Given the description of an element on the screen output the (x, y) to click on. 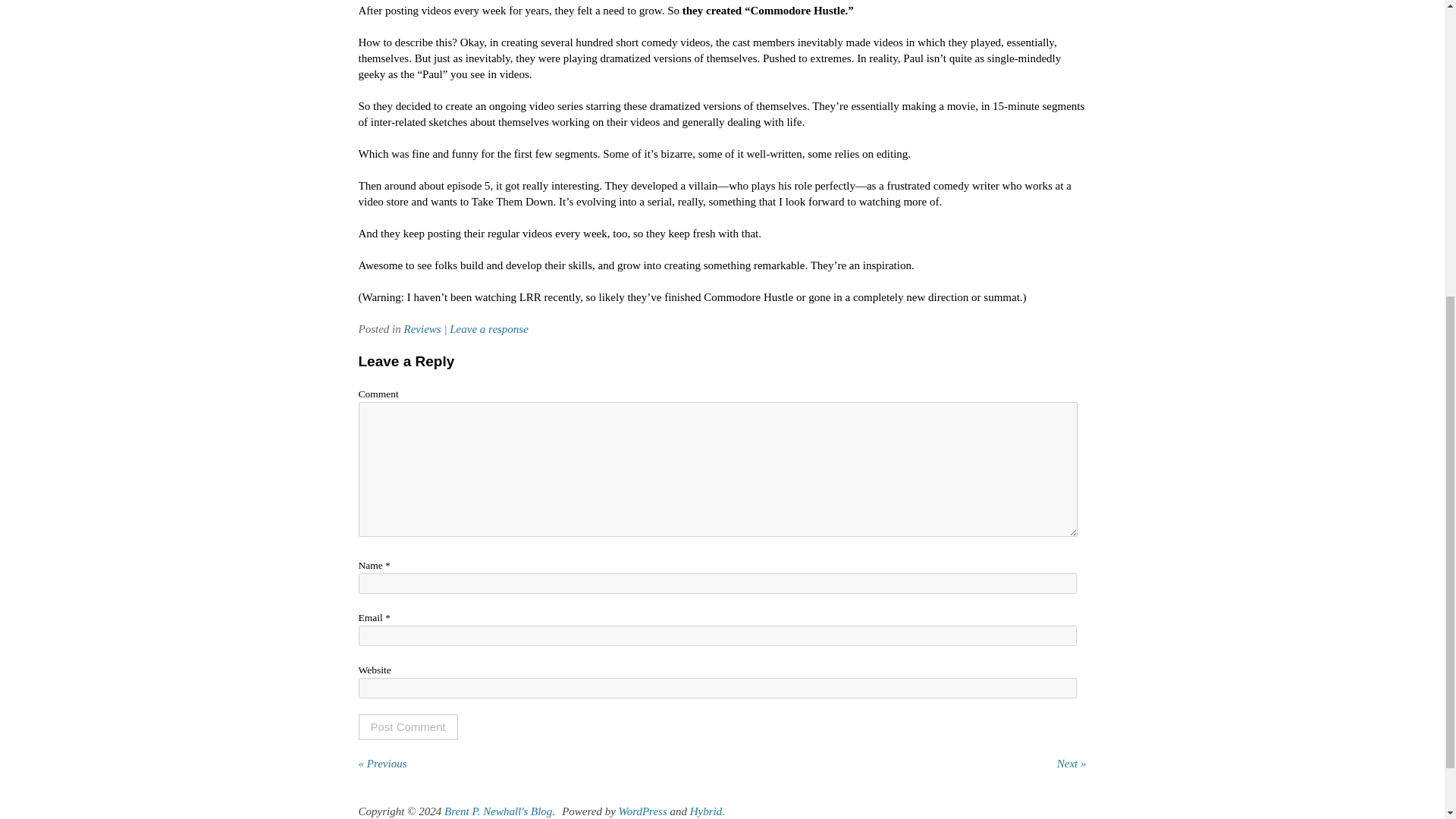
Hybrid WordPress Theme (706, 811)
Post Comment (407, 727)
Brent P. Newhall's Blog (497, 811)
Hybrid (706, 811)
Brent P. Newhall's Blog (497, 811)
WordPress (642, 811)
State-of-the-art semantic personal publishing platform (642, 811)
Post Comment (407, 727)
Reviews (422, 328)
Leave a response (488, 328)
